Given the description of an element on the screen output the (x, y) to click on. 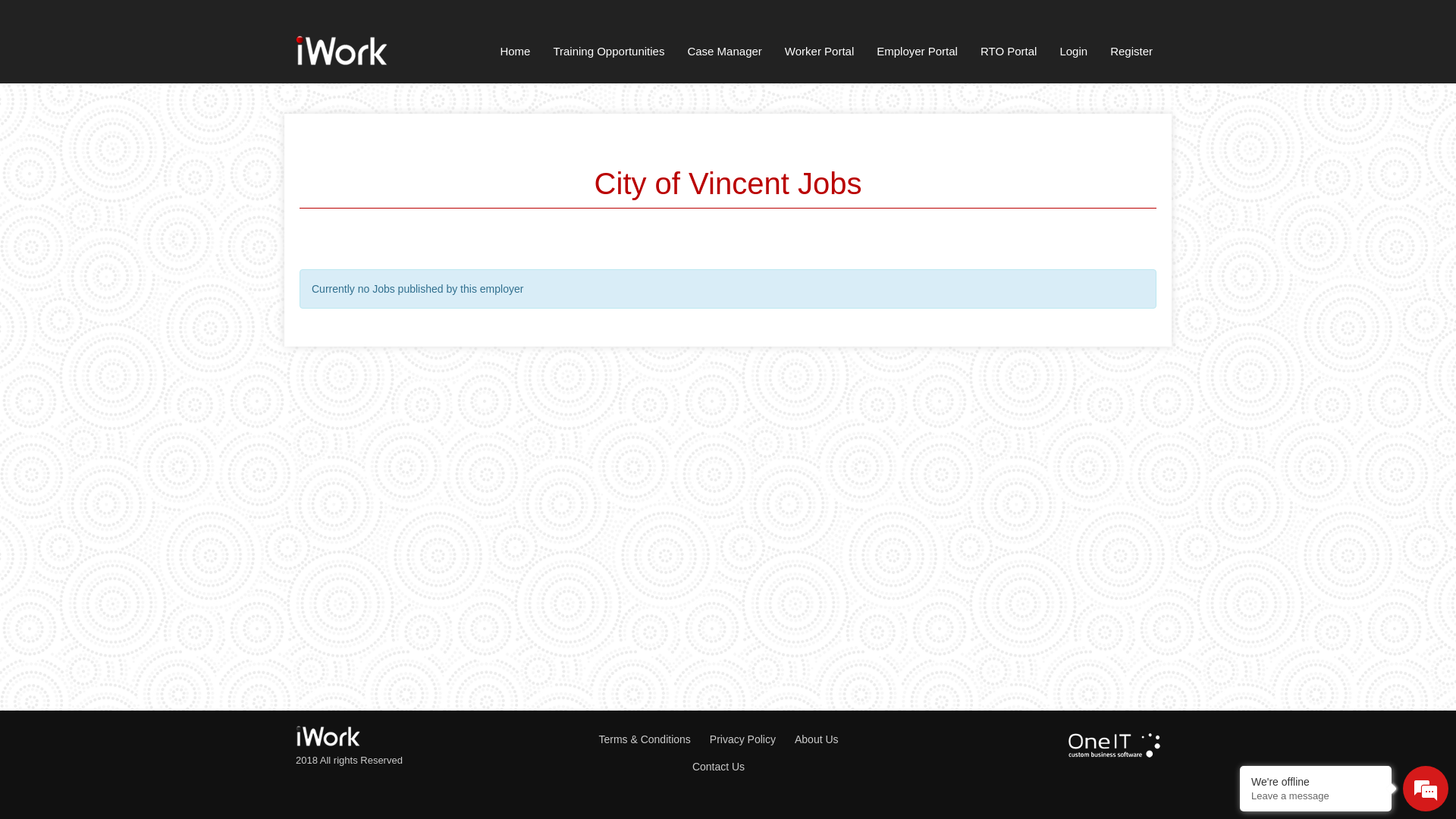
Worker Portal Element type: text (818, 53)
Contact Us Element type: text (727, 766)
iWork Element type: hover (341, 49)
About Us Element type: text (825, 739)
Register Element type: text (1131, 53)
Terms & Conditions Element type: text (653, 739)
RTO Portal Element type: text (1008, 53)
Privacy Policy Element type: text (751, 739)
Training Opportunities Element type: text (608, 53)
Employer Portal Element type: text (916, 53)
Login Element type: text (1073, 53)
Case Manager Element type: text (724, 53)
Home Element type: text (514, 53)
